Given the description of an element on the screen output the (x, y) to click on. 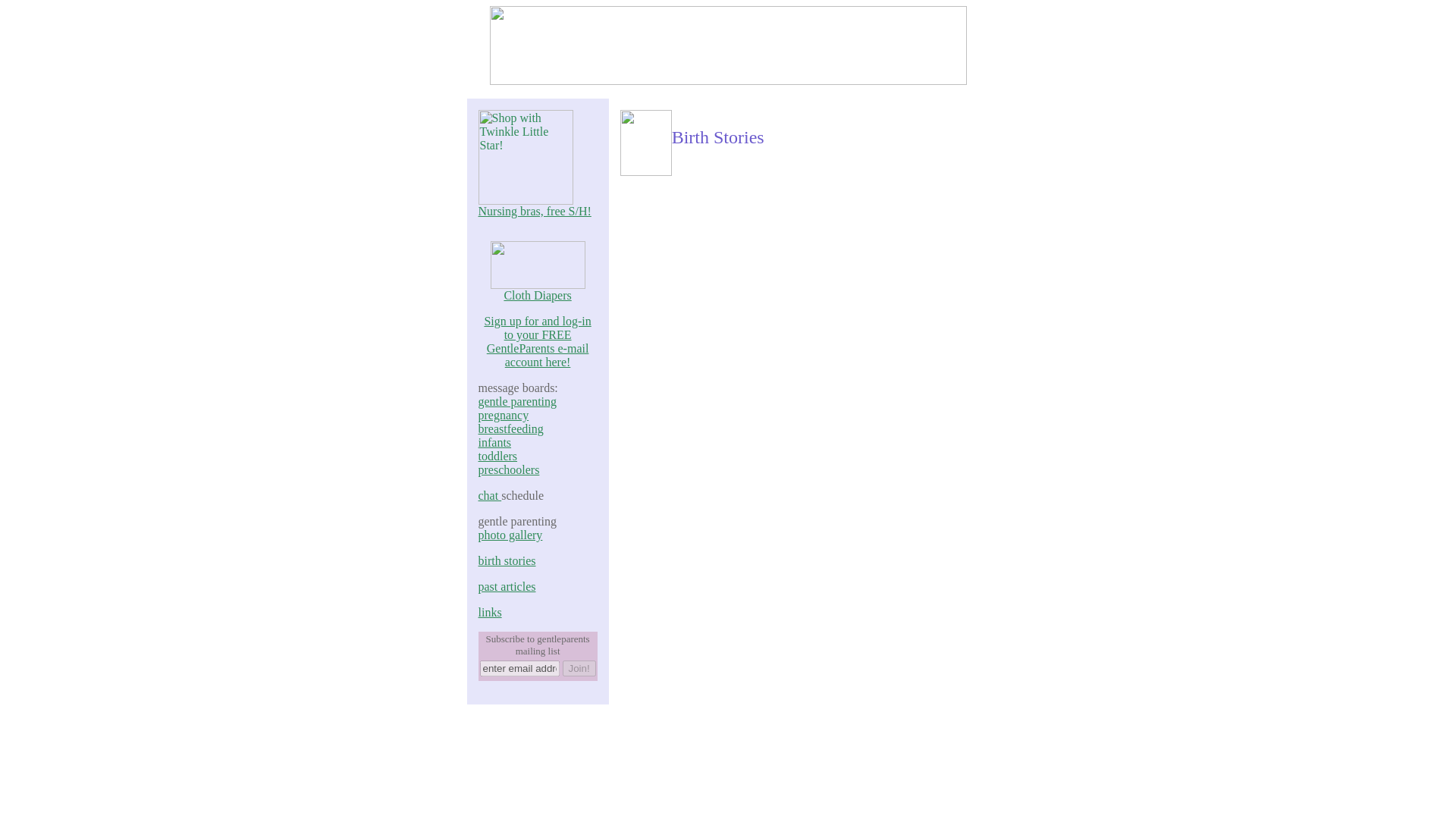
chat (488, 495)
enter email address (519, 668)
photo gallery (509, 534)
N (481, 210)
infants (494, 441)
gentle parenting (516, 400)
breastfeeding (510, 428)
links (488, 612)
pregnancy (502, 414)
past articles (506, 585)
preschoolers (507, 469)
Join! (578, 668)
toddlers (496, 455)
Cloth Diapers (537, 290)
